Given the description of an element on the screen output the (x, y) to click on. 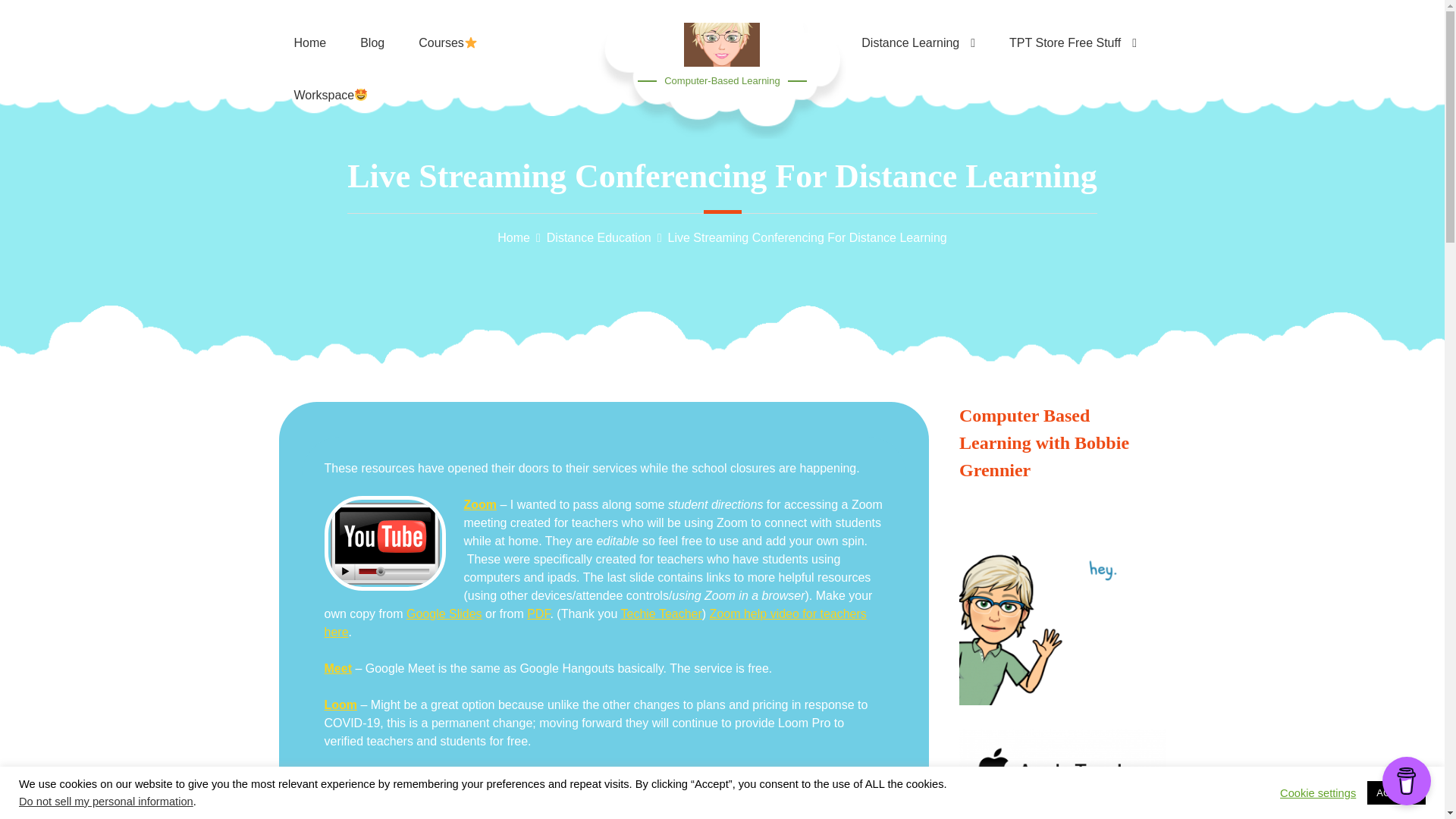
Courses (448, 26)
TPT Store Free Stuff (1073, 26)
Home (310, 26)
Distance Learning (918, 26)
Blog (371, 26)
Computer Based Learning (310, 26)
Computer-Based Learning (720, 80)
Distance Education (598, 237)
Home (513, 237)
Workspace (331, 76)
